Given the description of an element on the screen output the (x, y) to click on. 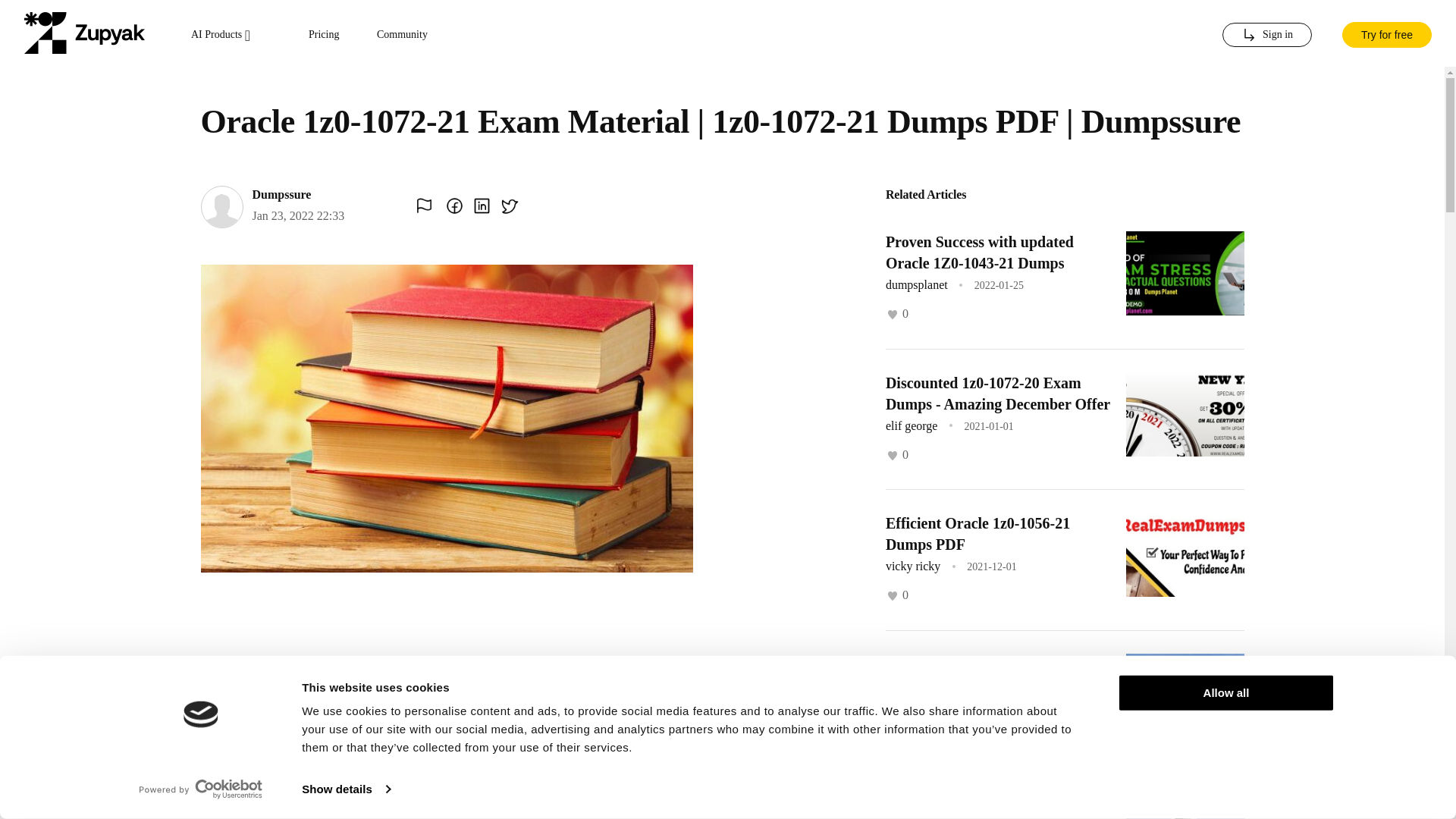
Show details (345, 789)
Efficient Oracle 1z0-1056-21 Dumps PDF  (977, 533)
Proven Success with updated Oracle 1Z0-1043-21 Dumps (979, 252)
Most Updated 1z0-340-21 Real Dumps Questions (984, 673)
How To Get Best Oracle 1z0-1072-20 Dumps Study Material? (996, 807)
